Given the description of an element on the screen output the (x, y) to click on. 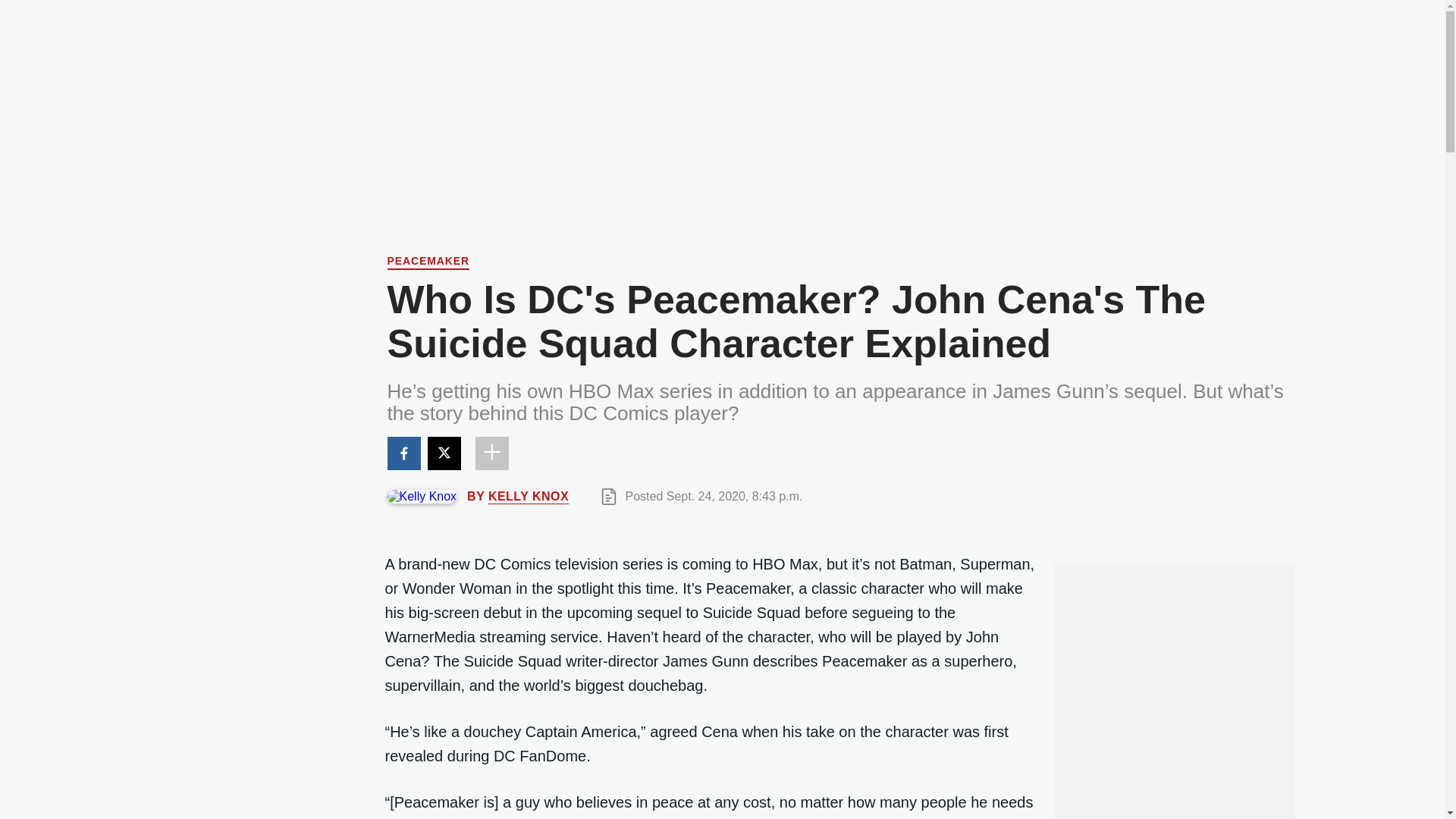
PEACEMAKER (427, 262)
KELLY KNOX (528, 495)
Peacemaker (427, 262)
